Given the description of an element on the screen output the (x, y) to click on. 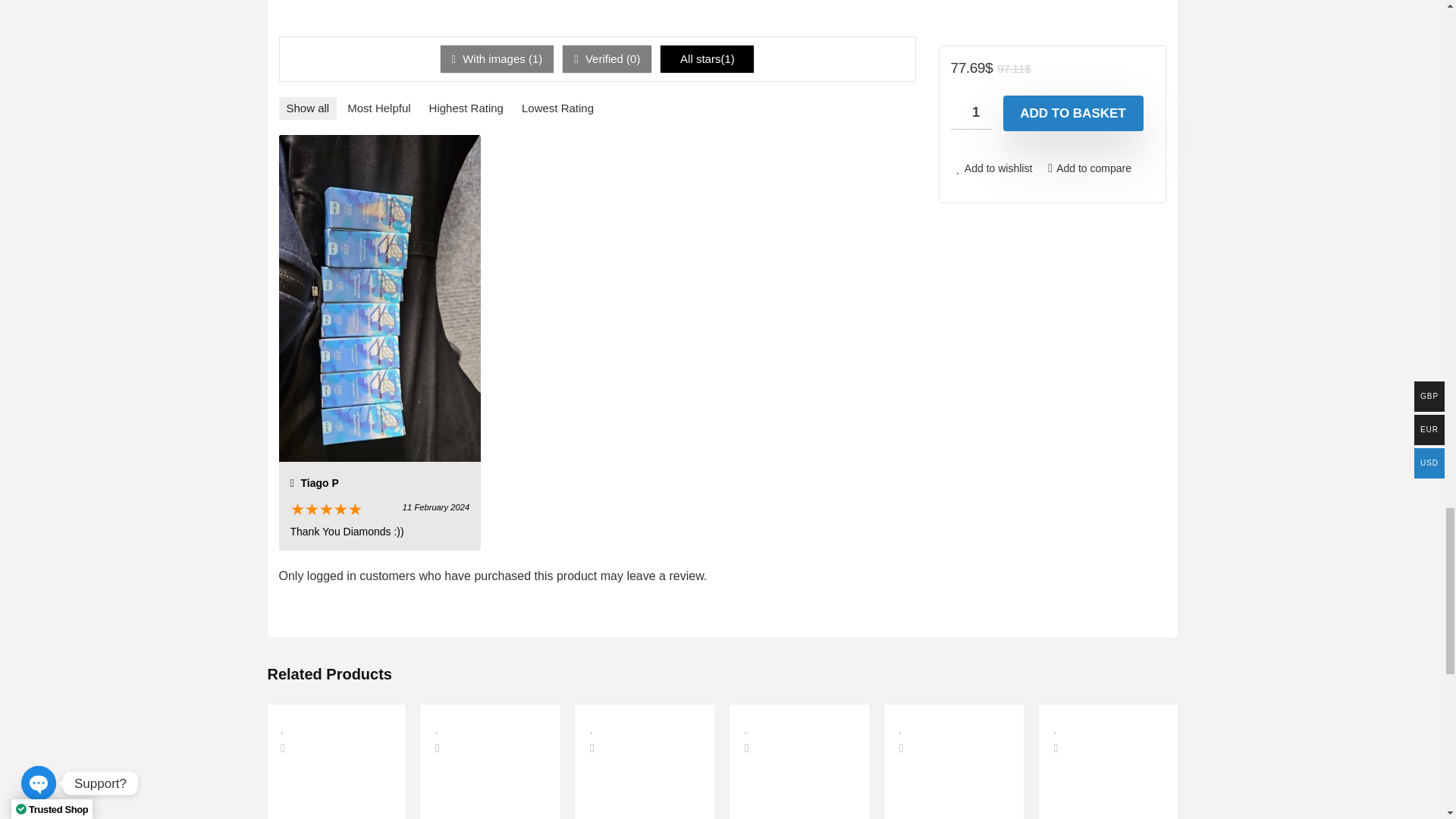
Rated 5 out of 5 (325, 509)
